Given the description of an element on the screen output the (x, y) to click on. 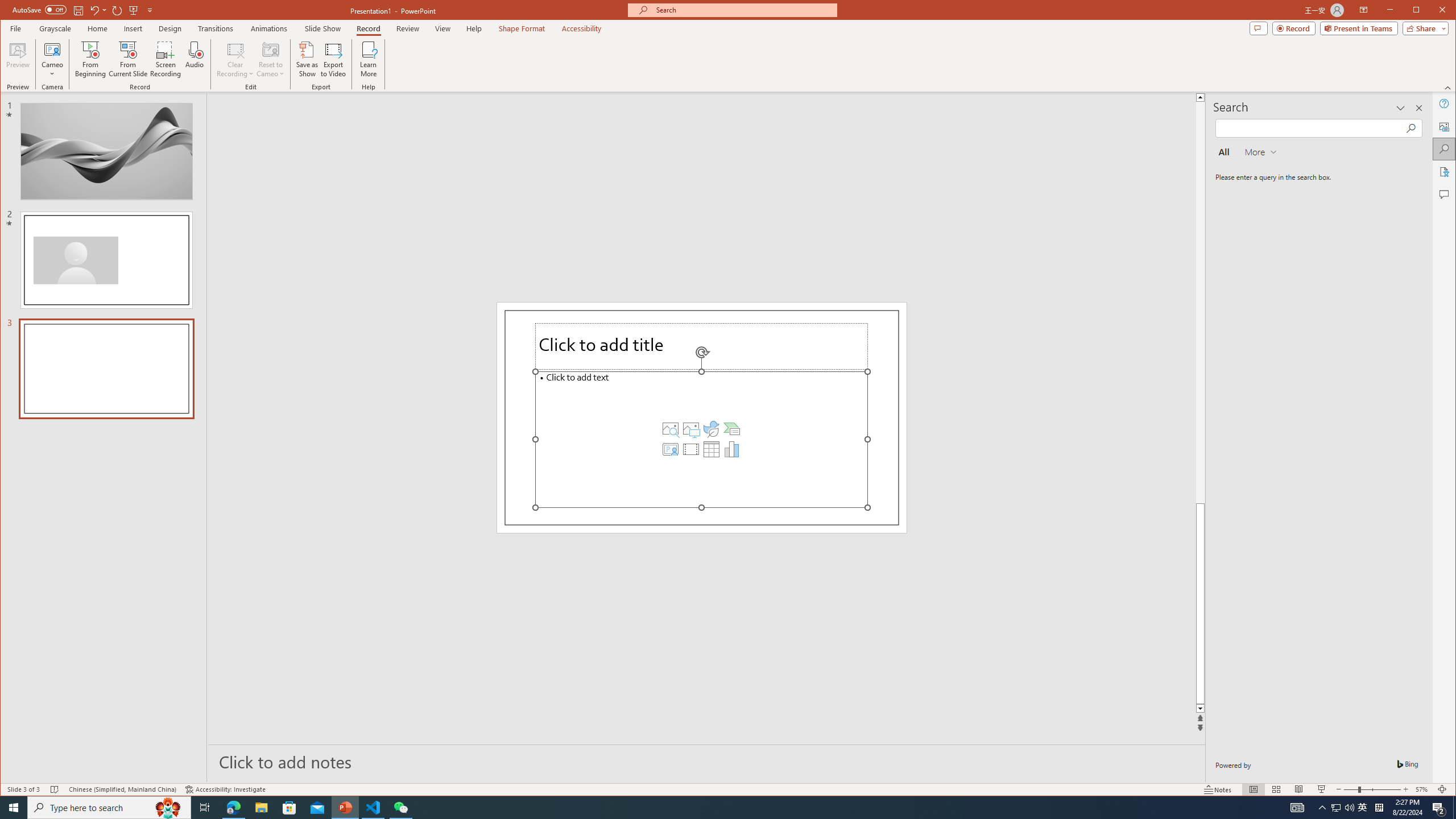
From Beginning... (90, 59)
Running applications (707, 807)
Pictures (690, 428)
